Given the description of an element on the screen output the (x, y) to click on. 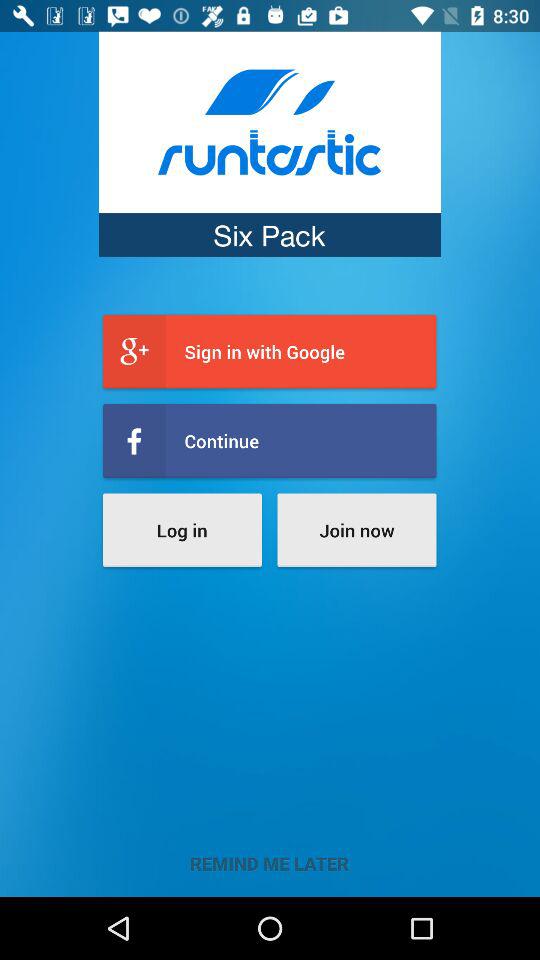
turn off icon above remind me later icon (182, 529)
